Given the description of an element on the screen output the (x, y) to click on. 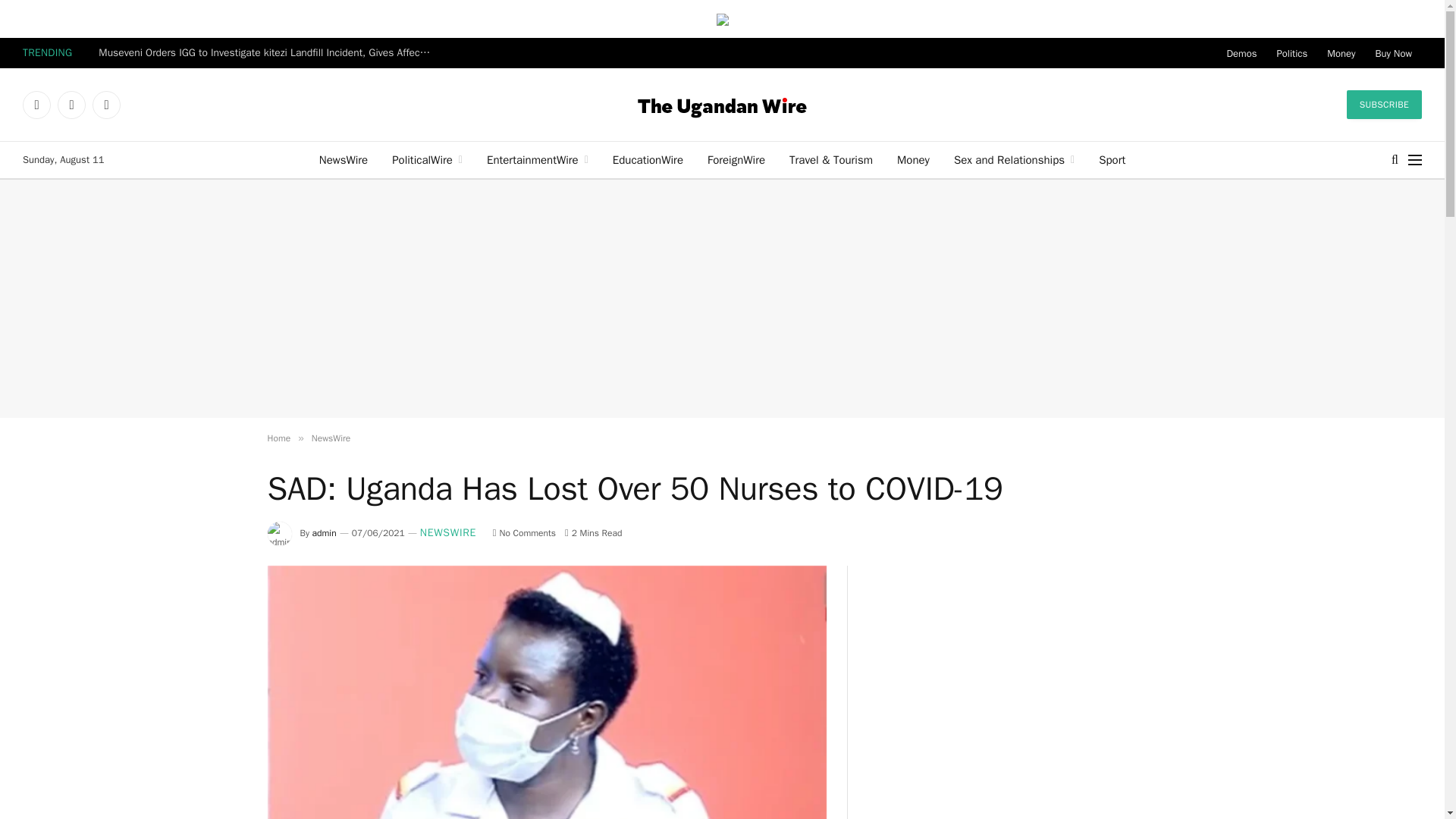
Instagram (106, 104)
The Ugandan Wire (721, 105)
Facebook (36, 104)
Posts by admin (324, 532)
Politics (1291, 52)
Demos (1241, 52)
Buy Now (1393, 52)
